Given the description of an element on the screen output the (x, y) to click on. 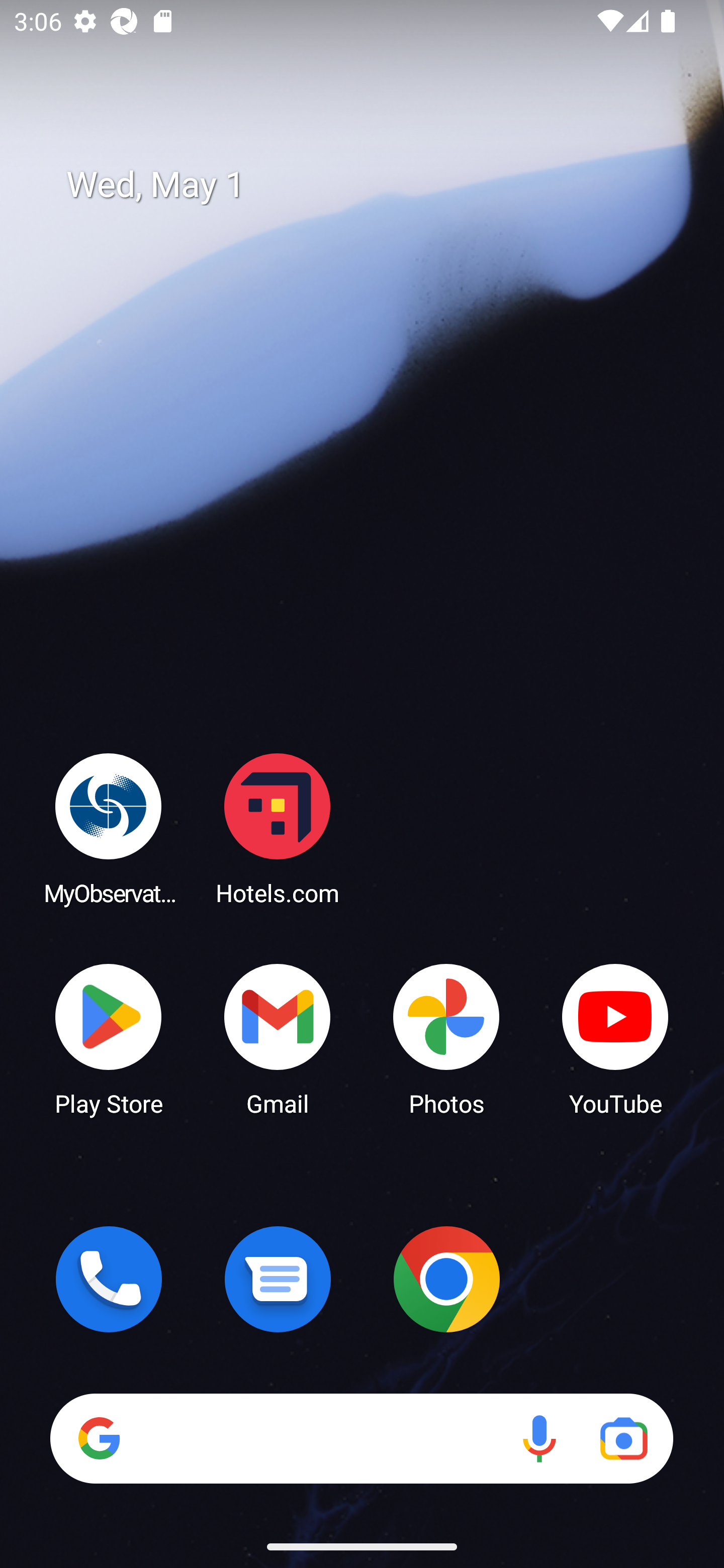
Wed, May 1 (375, 184)
MyObservatory (108, 828)
Hotels.com (277, 828)
Play Store (108, 1038)
Gmail (277, 1038)
Photos (445, 1038)
YouTube (615, 1038)
Phone (108, 1279)
Messages (277, 1279)
Chrome (446, 1279)
Search Voice search Google Lens (361, 1438)
Voice search (539, 1438)
Google Lens (623, 1438)
